Given the description of an element on the screen output the (x, y) to click on. 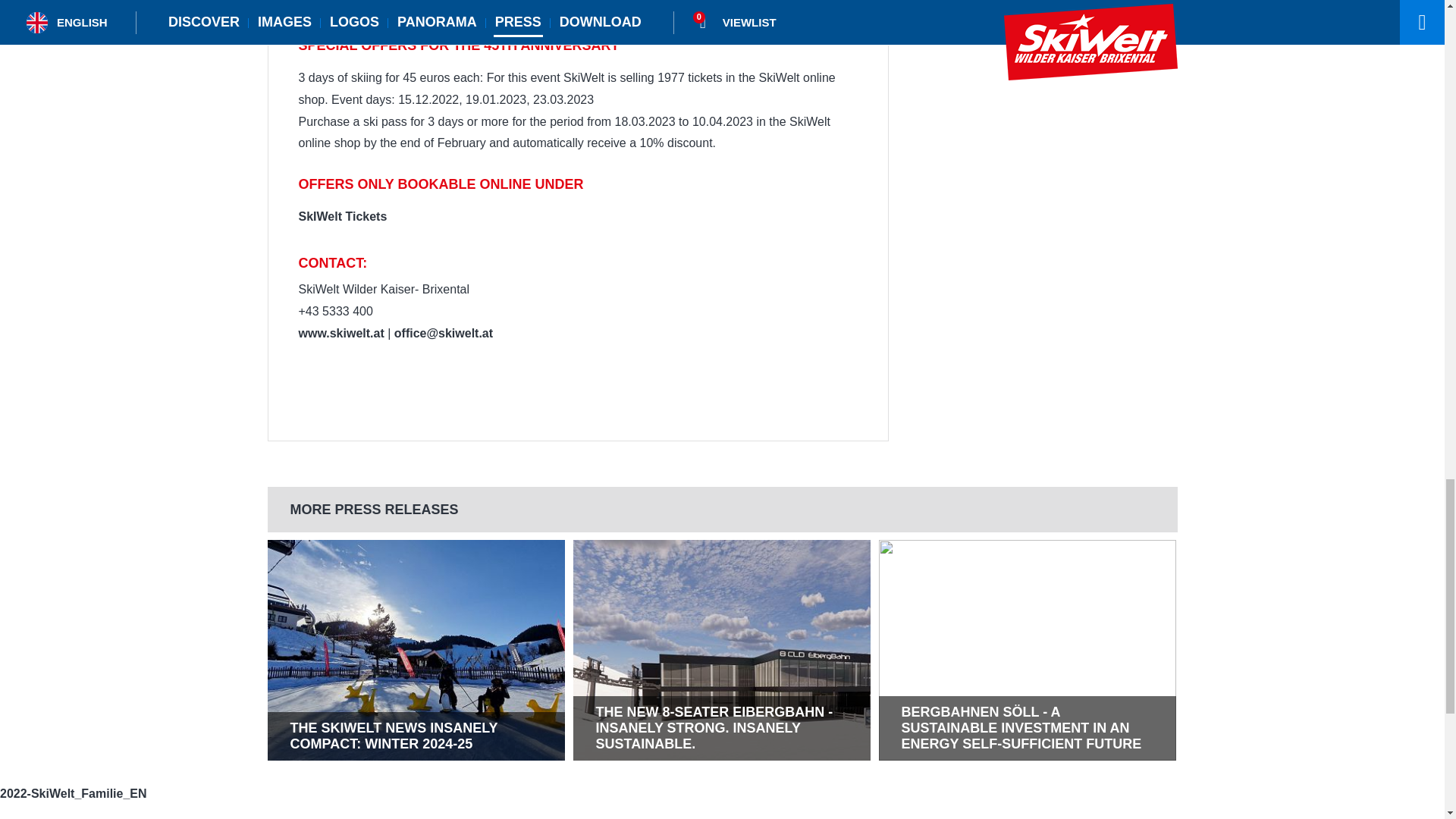
SkIWelt Tickets (342, 215)
www.skiwelt.at (343, 332)
THE SKIWELT NEWS INSANELY COMPACT: WINTER 2024-25 (415, 735)
www.skiwelt.at (343, 332)
